Given the description of an element on the screen output the (x, y) to click on. 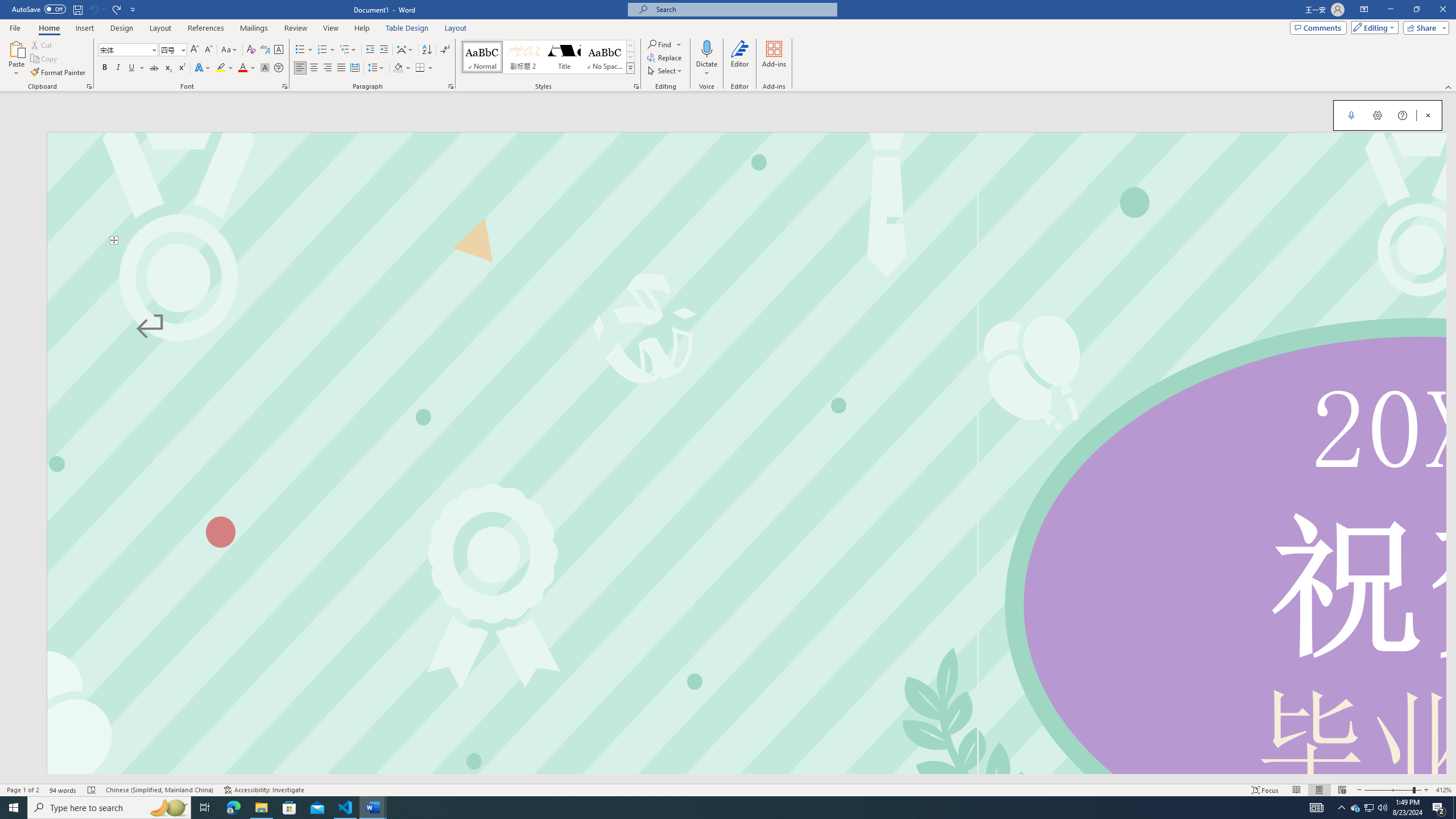
Class: NetUIImage (630, 68)
References (205, 28)
Mailings (253, 28)
Restore Down (1416, 9)
Table Design (407, 28)
Mode (1372, 27)
Bullets (300, 49)
Open (182, 49)
Word Count 94 words (63, 790)
Quick Access Toolbar (74, 9)
Font Size (172, 49)
System (6, 6)
